Given the description of an element on the screen output the (x, y) to click on. 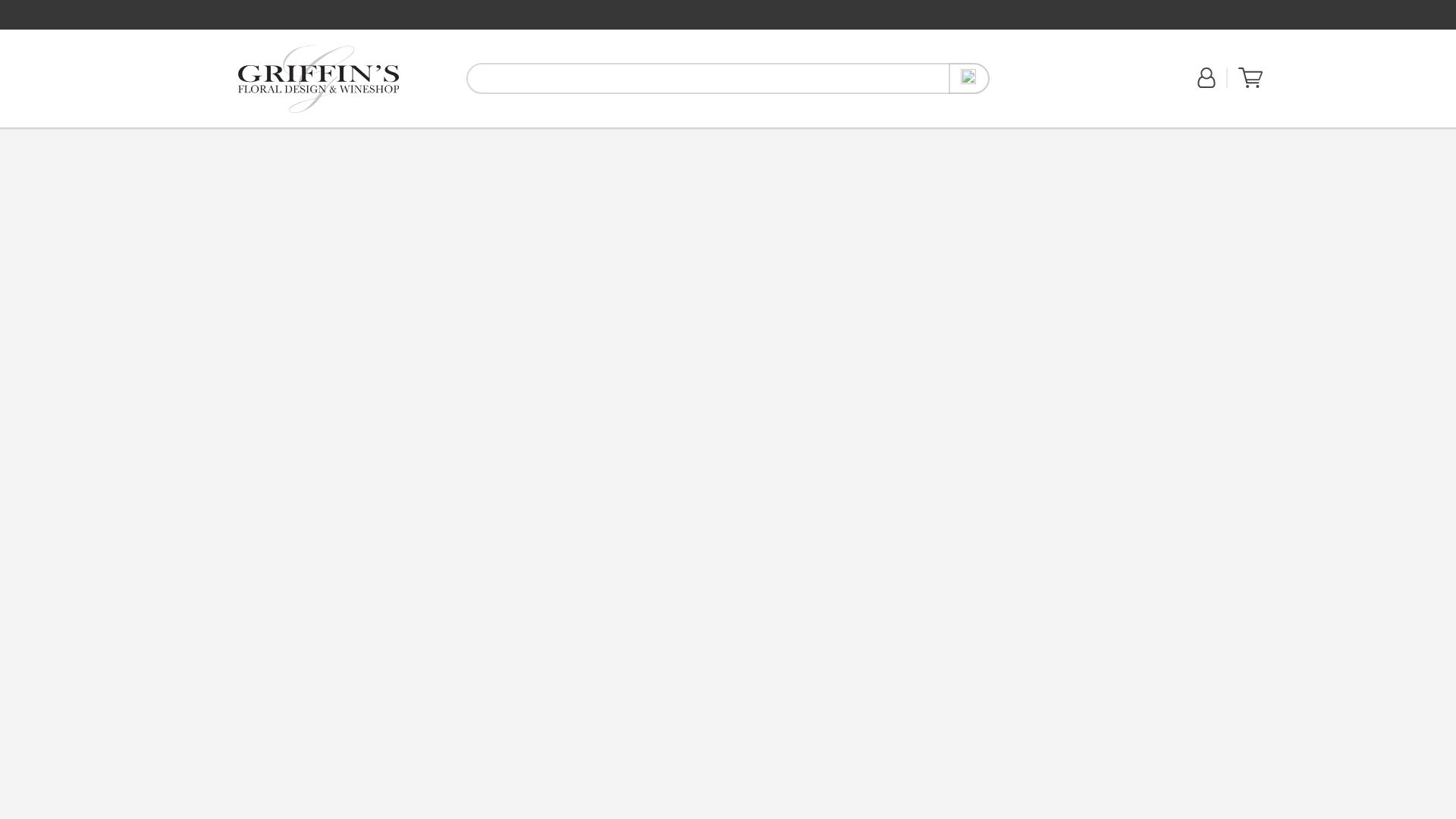
Just Because (381, 135)
View Your Shopping Cart (1250, 84)
Griffin's Floral Design and Wineshop Logo (318, 79)
Back to the Home Page (318, 78)
Search (969, 78)
Set ZIP Code (1044, 86)
View Your Shopping Cart (1250, 77)
Occasions (435, 136)
Birthday (295, 135)
